Given the description of an element on the screen output the (x, y) to click on. 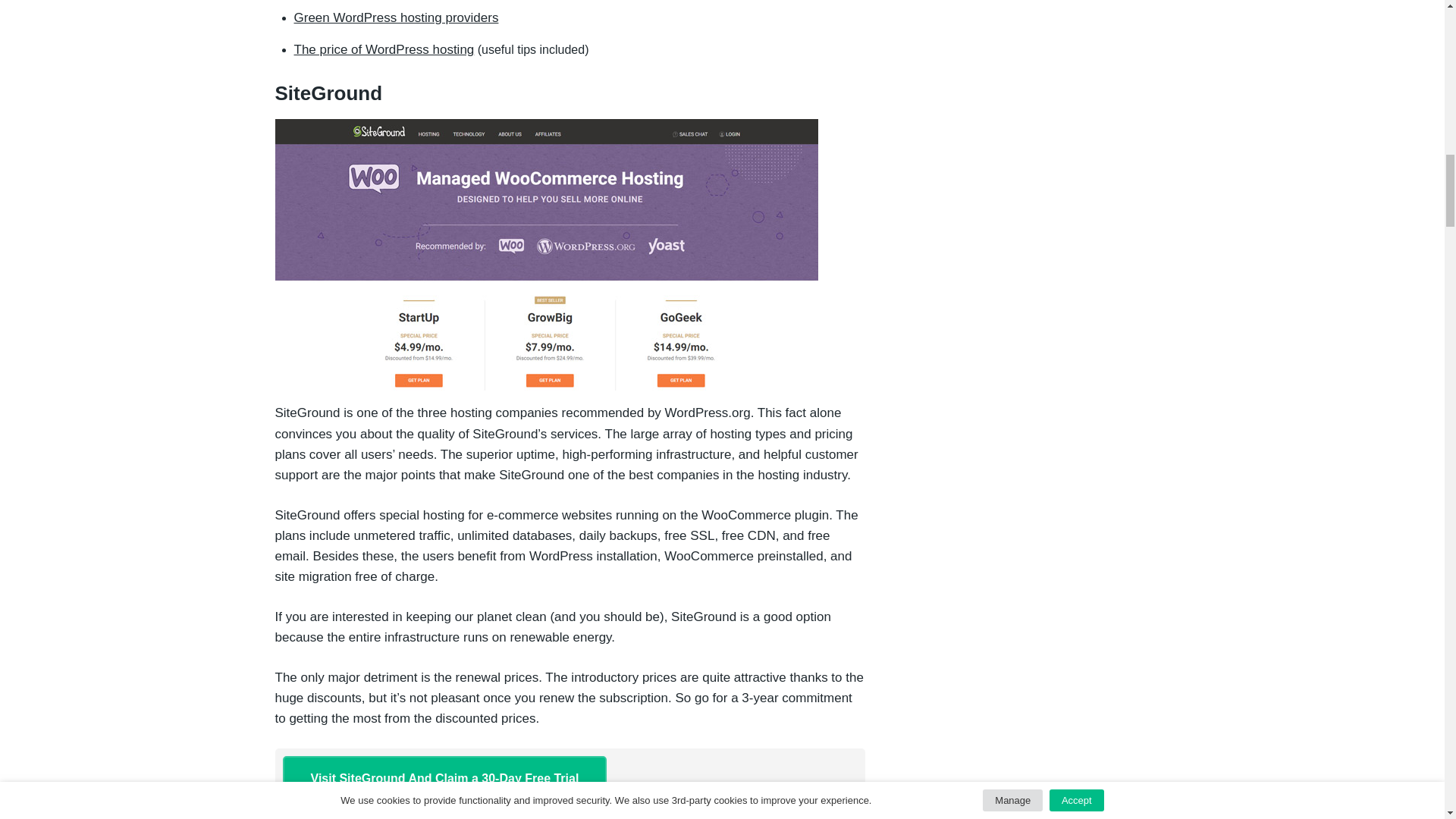
Green WordPress hosting providers (396, 17)
The price of WordPress hosting (384, 49)
Visit SiteGround And Claim a 30-Day Free Trial (444, 778)
